Given the description of an element on the screen output the (x, y) to click on. 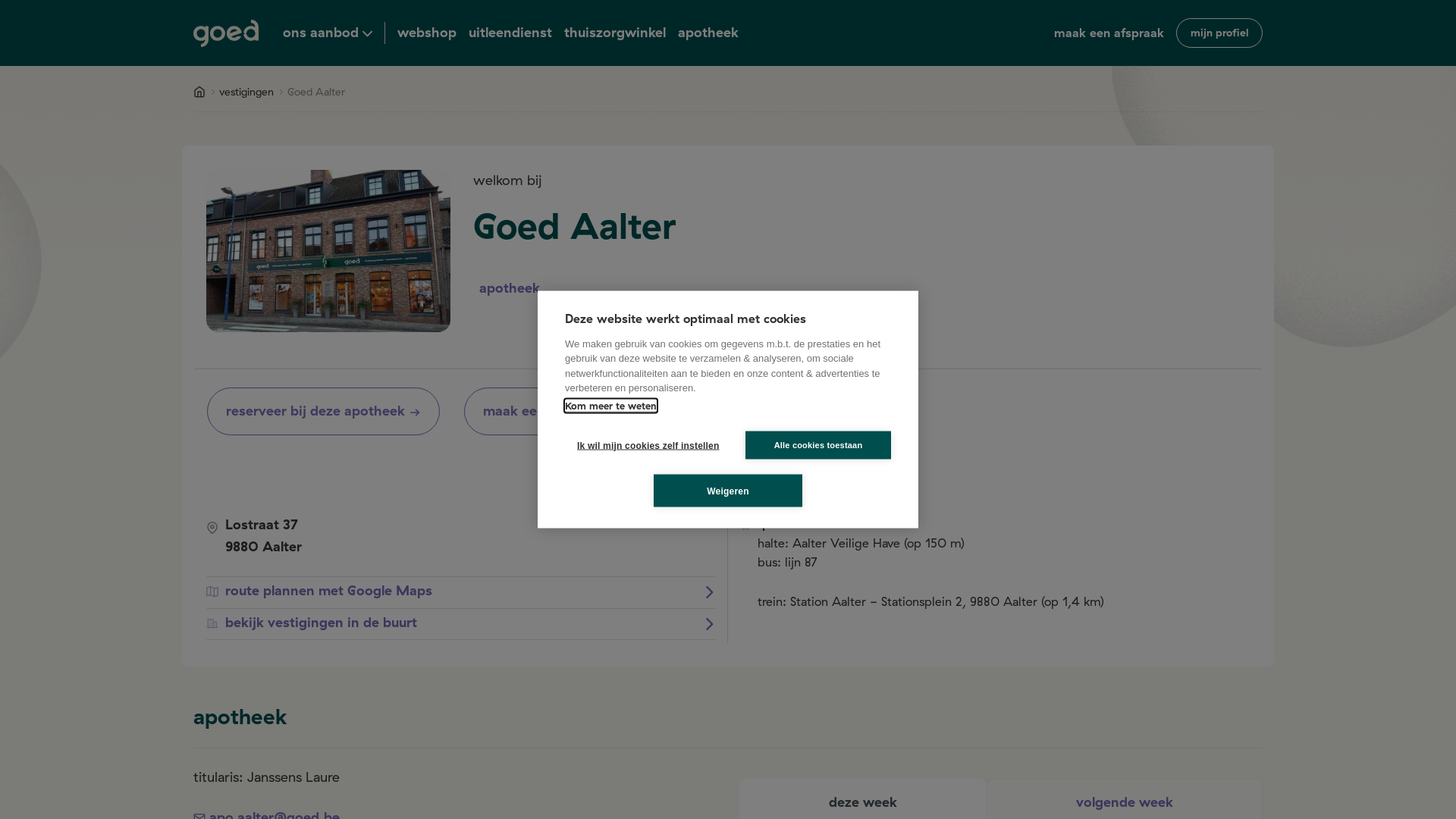
reserveer bij deze apotheek Element type: text (323, 411)
webshop Element type: text (426, 32)
apotheek Element type: text (707, 32)
Weigeren Element type: text (727, 490)
maak een afspraak Element type: text (1109, 33)
Kom meer te weten Element type: text (610, 404)
Ik wil mijn cookies zelf instellen Element type: text (637, 444)
vestigingen Element type: text (246, 92)
route plannen met Google Maps Element type: text (460, 591)
mijn profiel Element type: text (1219, 32)
bekijk vestigingen in de buurt Element type: text (460, 622)
Alle cookies toestaan Element type: text (818, 444)
ons aanbod Element type: text (333, 32)
maak een afspraak bij apotheek Element type: text (594, 411)
apotheek Element type: text (509, 288)
thuiszorgwinkel Element type: text (614, 32)
uitleendienst Element type: text (510, 32)
